Given the description of an element on the screen output the (x, y) to click on. 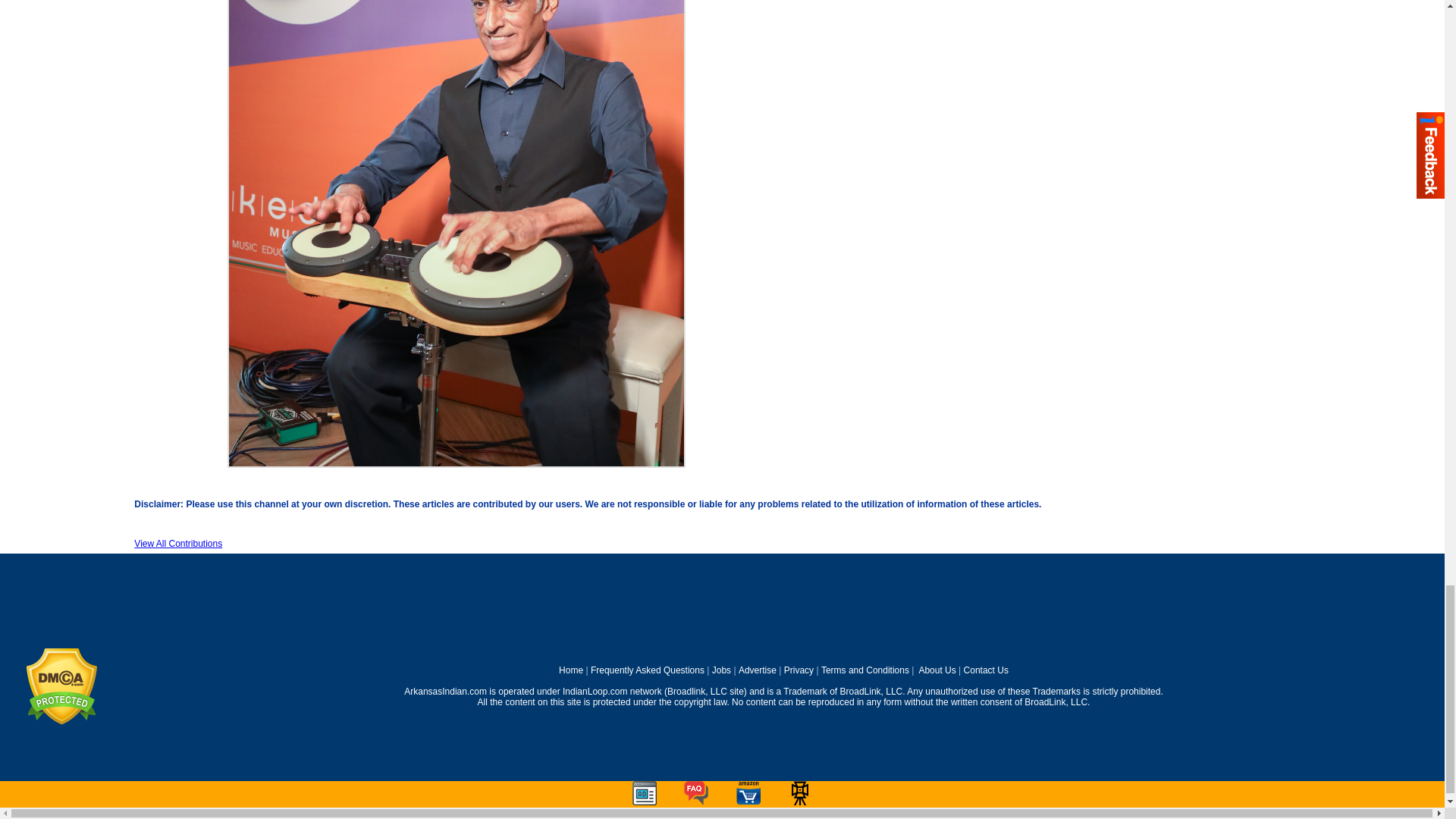
DMCA (61, 721)
